Given the description of an element on the screen output the (x, y) to click on. 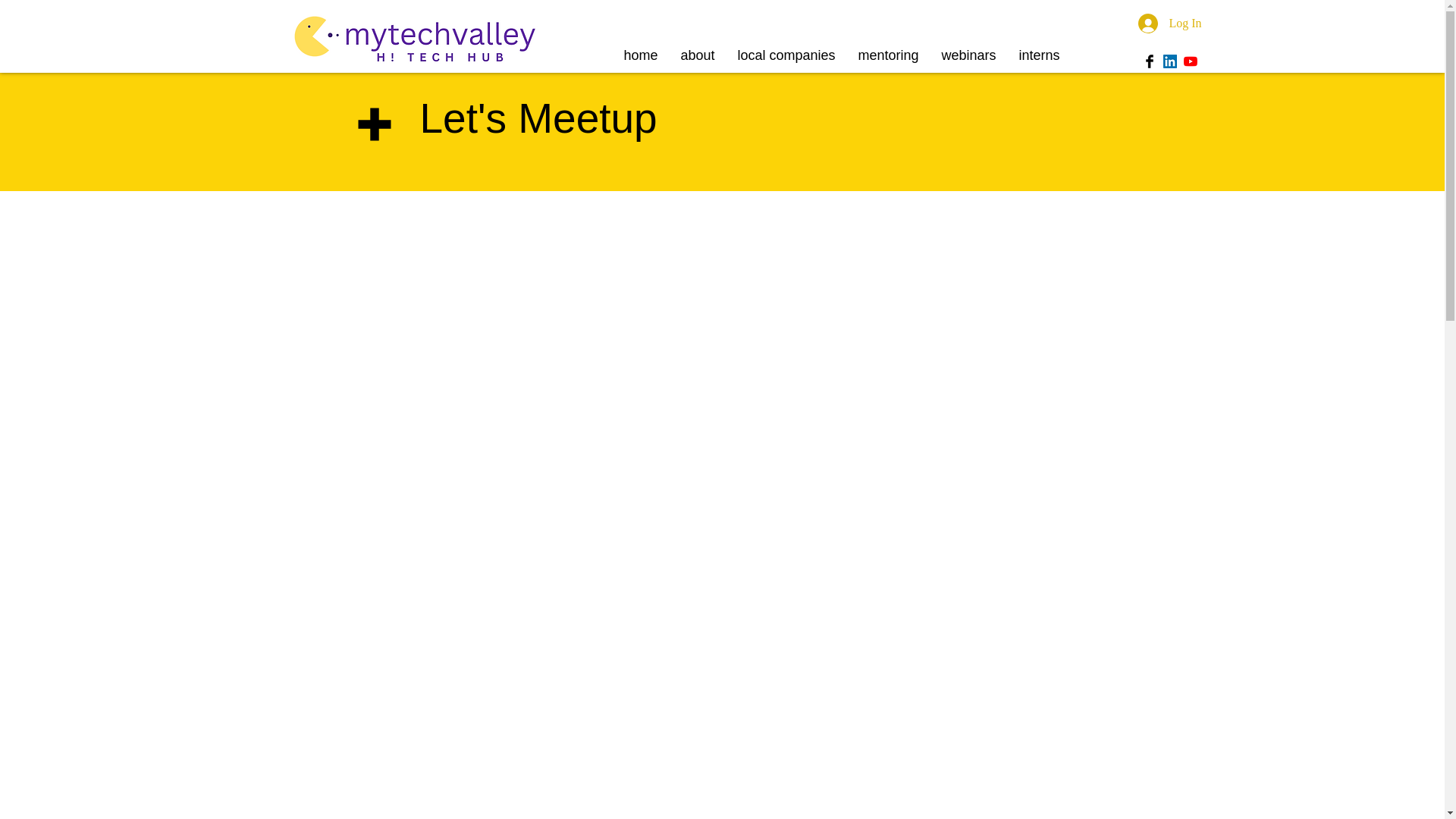
interns (1038, 52)
about (696, 52)
mentoring (887, 52)
Log In (1168, 23)
local companies (786, 52)
webinars (968, 52)
home (640, 52)
